Given the description of an element on the screen output the (x, y) to click on. 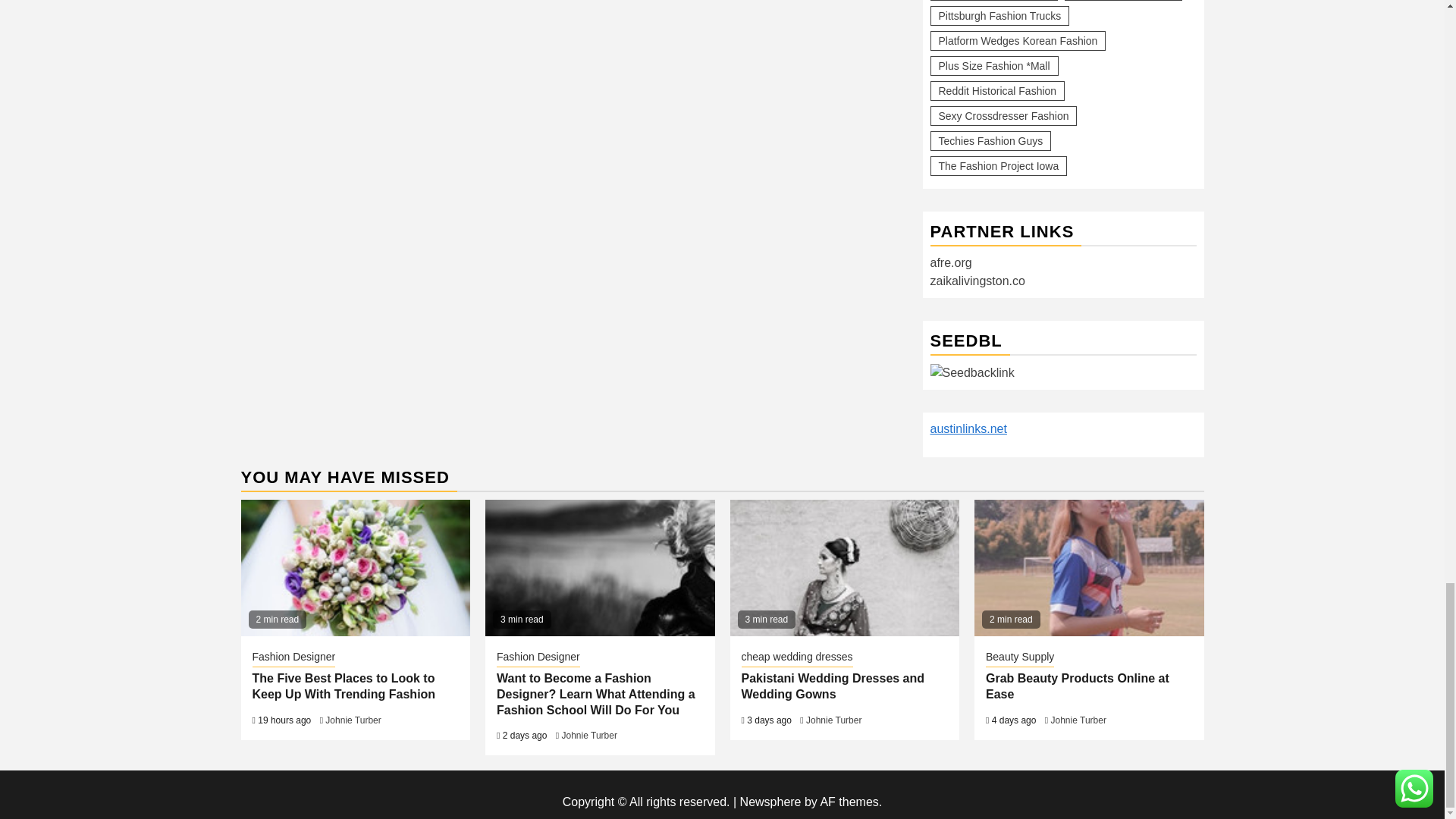
Seedbacklink (971, 372)
